Given the description of an element on the screen output the (x, y) to click on. 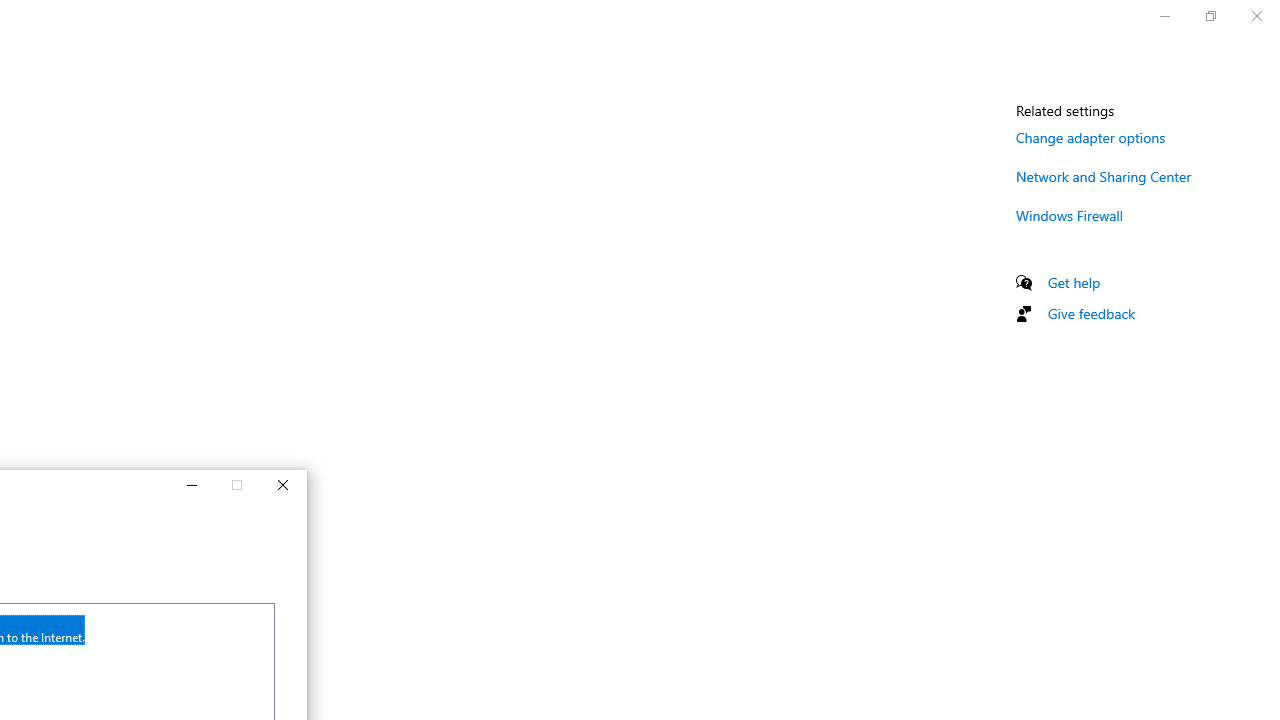
Minimize (189, 485)
Maximize (236, 485)
Close (283, 485)
